Given the description of an element on the screen output the (x, y) to click on. 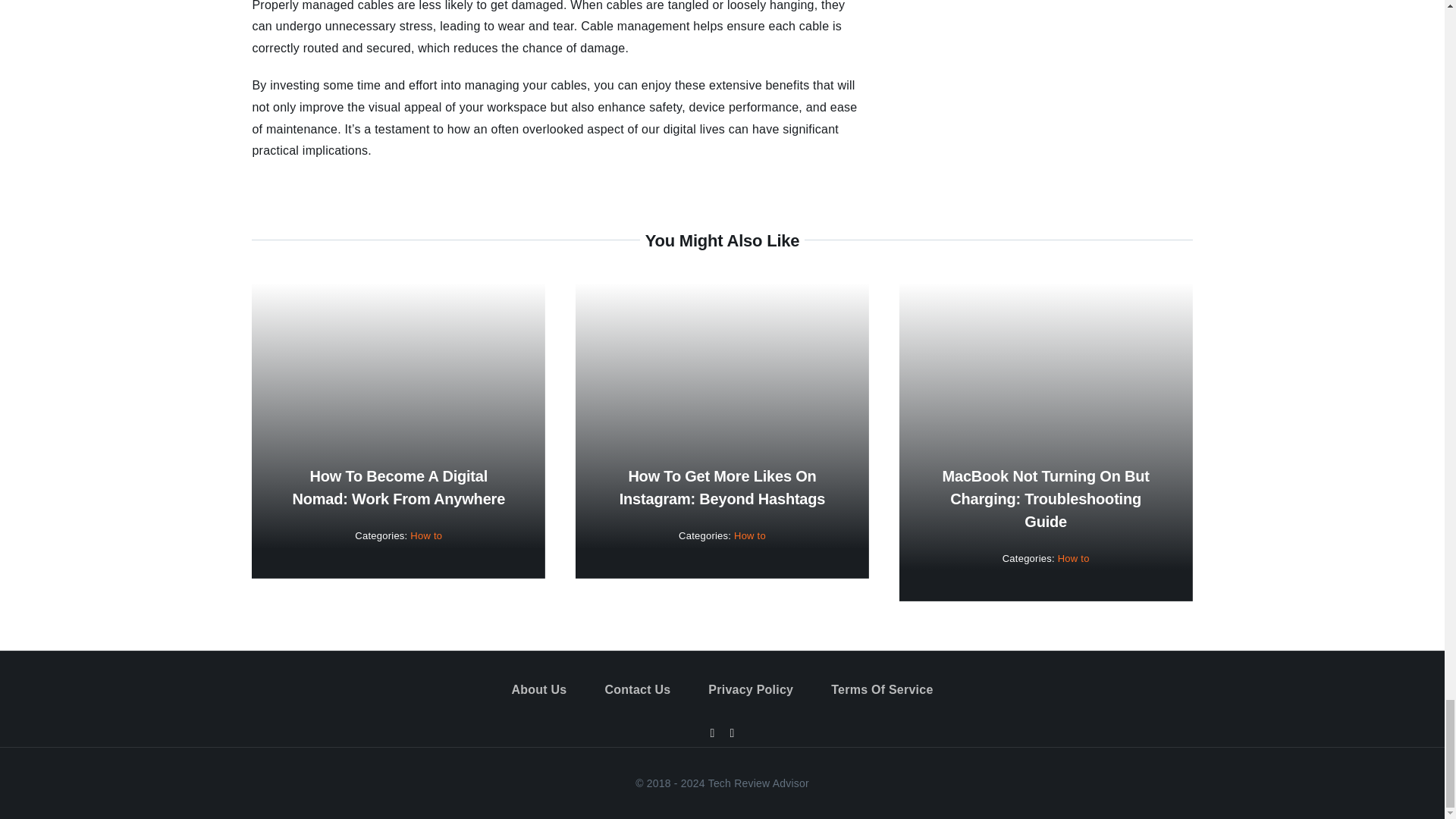
How to (1073, 558)
MacBook Not Turning On But Charging: Troubleshooting Guide (1046, 498)
How To Become A Digital Nomad: Work From Anywhere (398, 486)
How To Get More Likes On Instagram: Beyond Hashtags (722, 486)
How to (426, 535)
How to (749, 535)
